Given the description of an element on the screen output the (x, y) to click on. 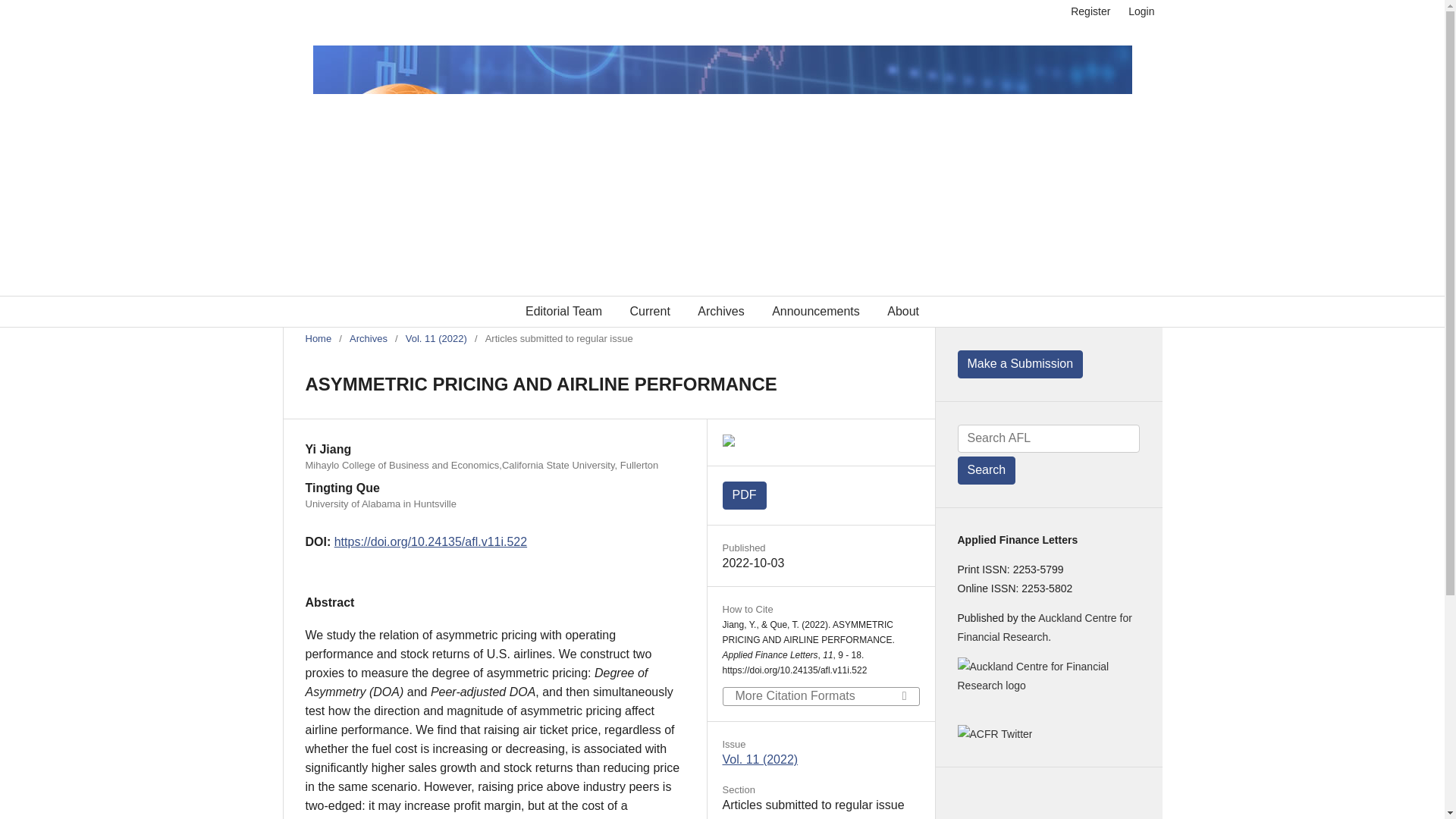
PDF (743, 495)
Make a Submission (1019, 364)
Home (317, 338)
Register (1090, 11)
Archives (368, 338)
More Citation Formats (820, 696)
Current (648, 311)
Announcements (815, 311)
Login (1137, 11)
Archives (720, 311)
